Given the description of an element on the screen output the (x, y) to click on. 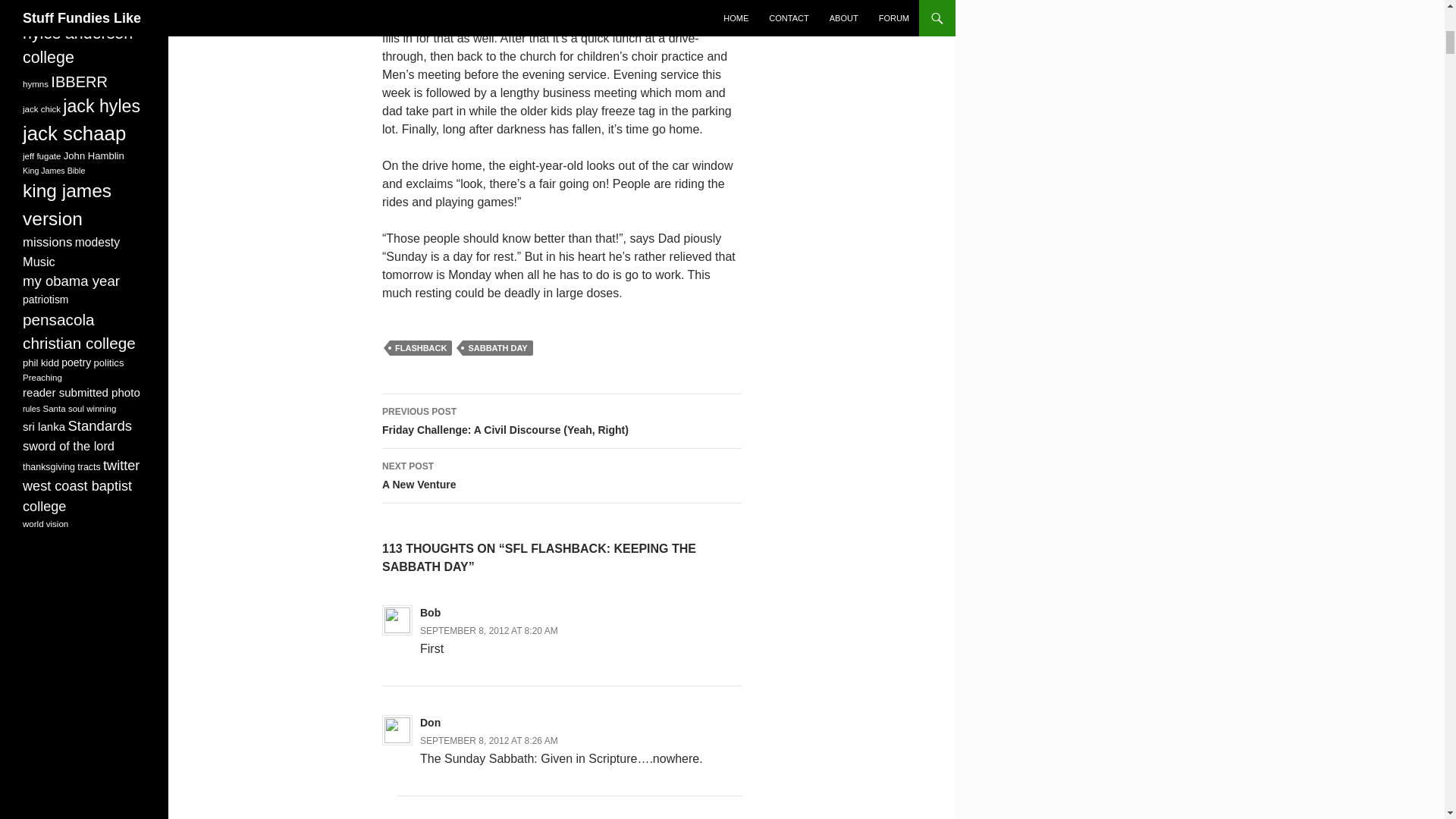
Don (430, 722)
SEPTEMBER 8, 2012 AT 8:26 AM (488, 740)
SEPTEMBER 8, 2012 AT 8:20 AM (488, 630)
FLASHBACK (420, 347)
SABBATH DAY (497, 347)
